Given the description of an element on the screen output the (x, y) to click on. 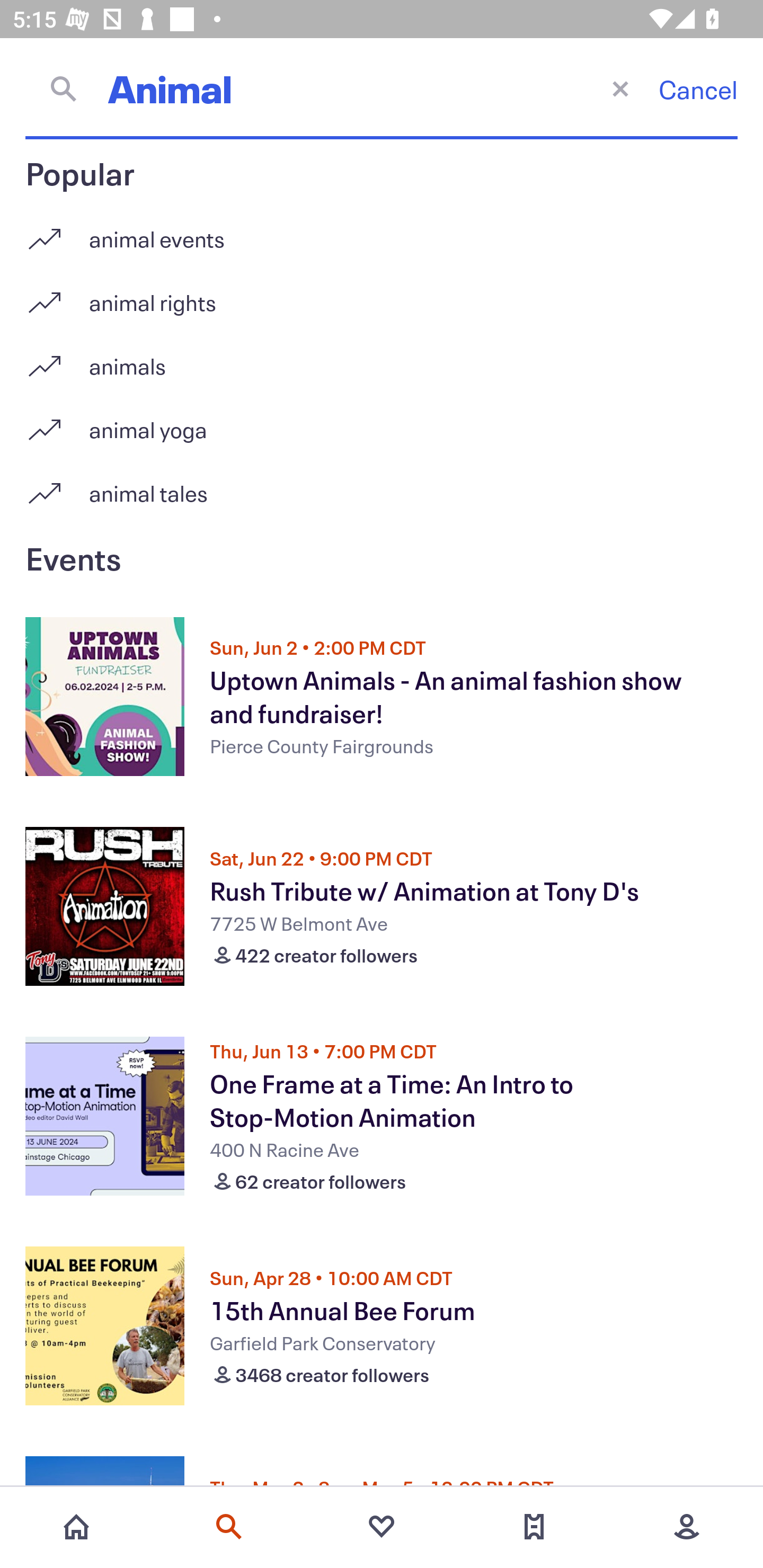
Animal Close current screen Cancel (381, 88)
Close current screen (620, 88)
Cancel (697, 89)
animal events (381, 231)
animal rights (381, 295)
animals (381, 358)
animal yoga (381, 422)
animal tales (381, 492)
Home (76, 1526)
Search events (228, 1526)
Favorites (381, 1526)
Tickets (533, 1526)
More (686, 1526)
